Given the description of an element on the screen output the (x, y) to click on. 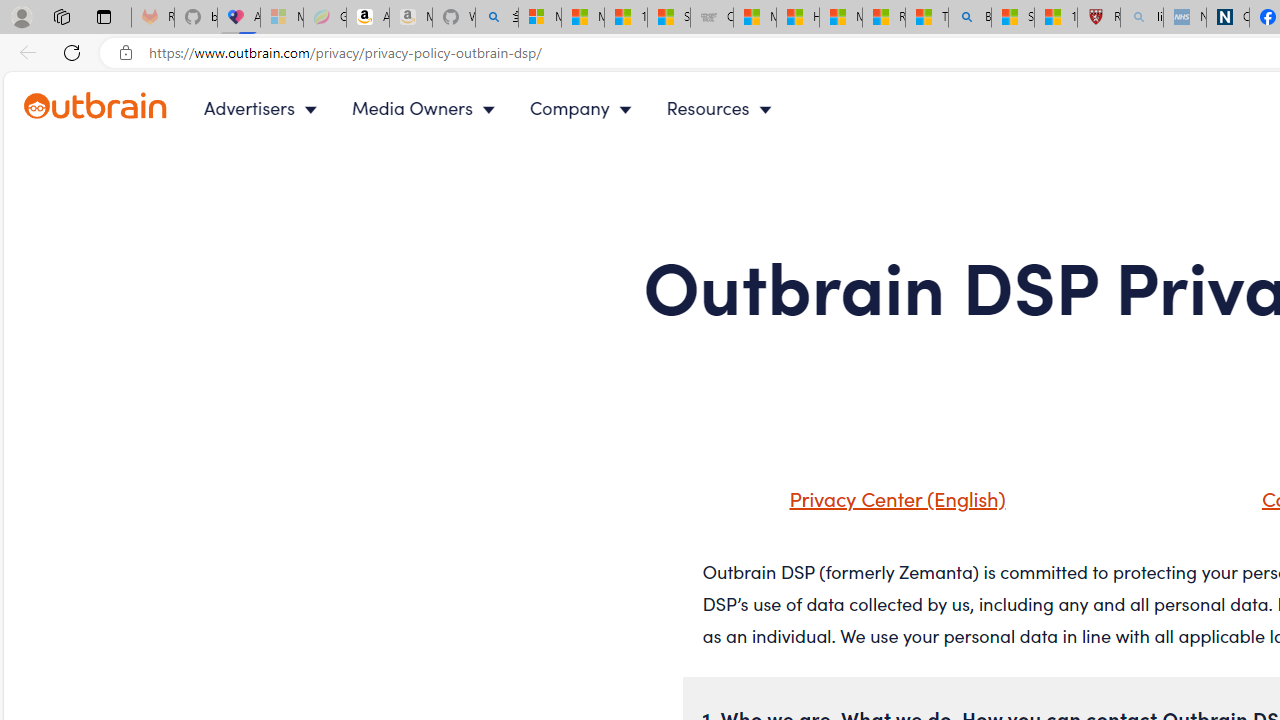
How I Got Rid of Microsoft Edge's Unnecessary Features (798, 17)
Skip navigation to go to main content (60, 83)
Asthma Inhalers: Names and Types (238, 17)
Media Owners (427, 107)
Recipes - MSN (883, 17)
Outbrain logo - link to homepage (118, 107)
Resources (723, 107)
